Given the description of an element on the screen output the (x, y) to click on. 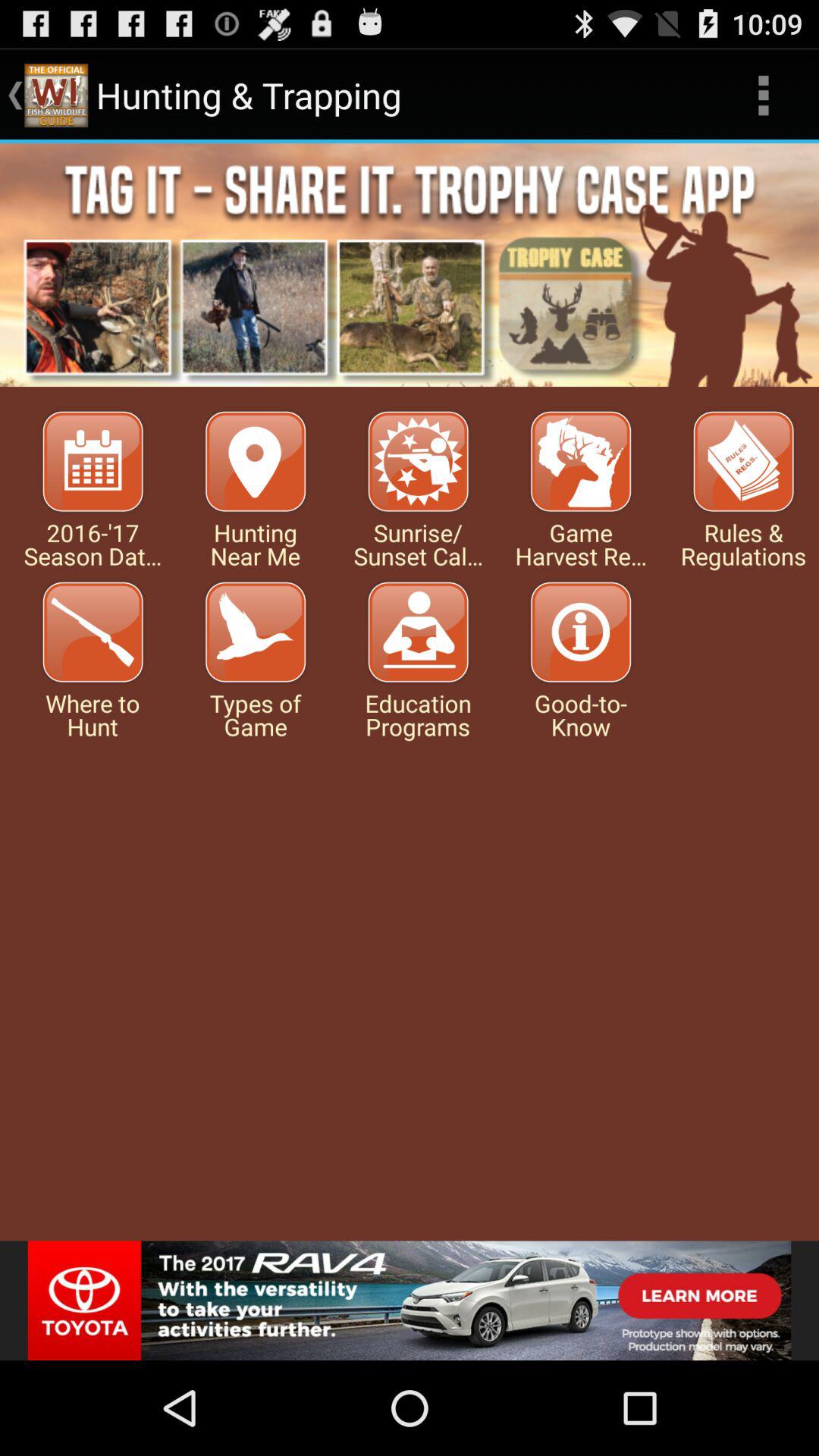
sponsored advertisement (409, 1300)
